Given the description of an element on the screen output the (x, y) to click on. 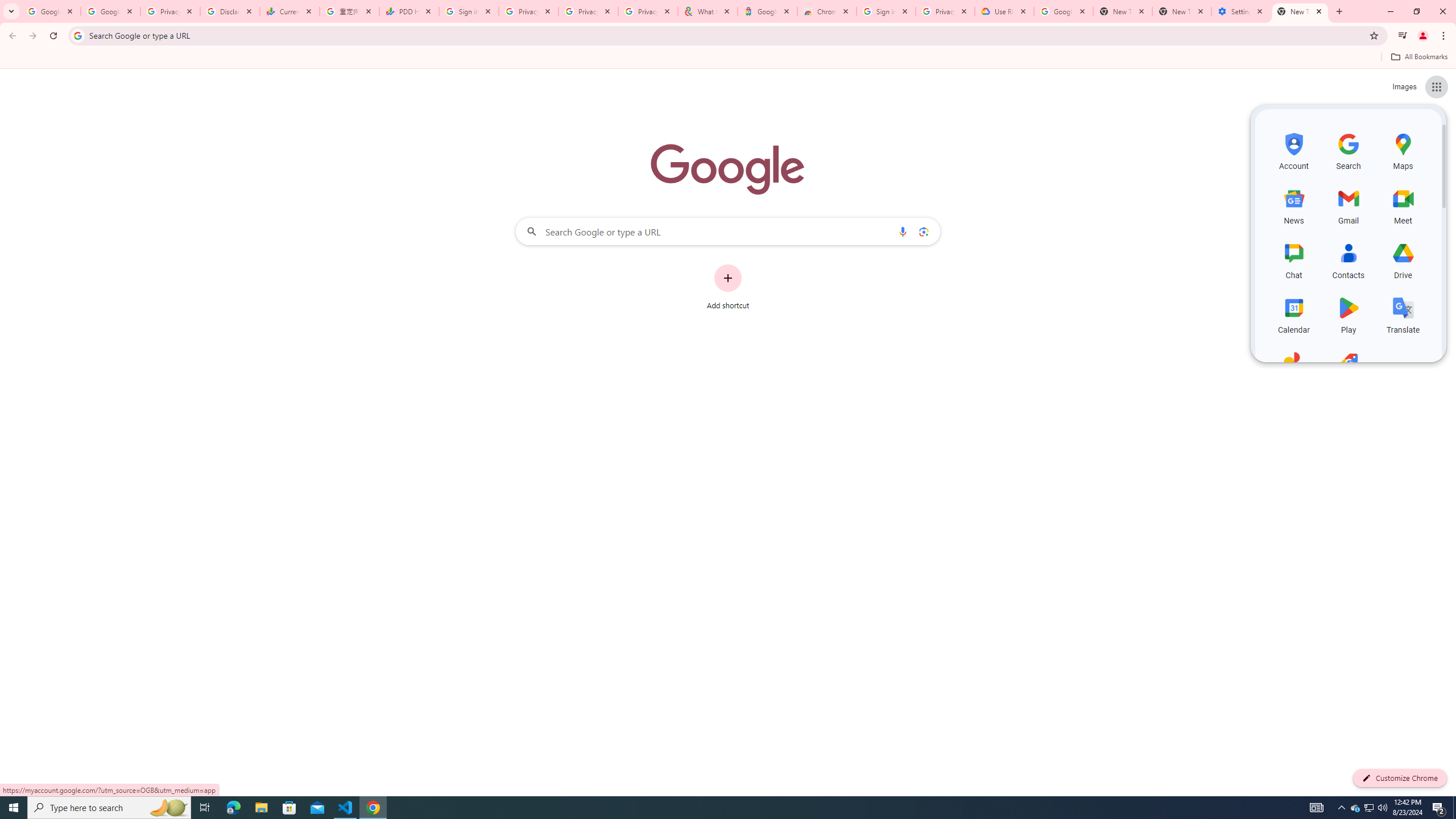
Photos, row 5 of 5 and column 1 of 3 in the first section (1293, 368)
Shopping, row 5 of 5 and column 2 of 3 in the first section (1348, 368)
News, row 2 of 5 and column 1 of 3 in the first section (1293, 204)
New Tab (1300, 11)
Chat, row 3 of 5 and column 1 of 3 in the first section (1293, 259)
Drive, row 3 of 5 and column 3 of 3 in the first section (1402, 259)
Add shortcut (727, 287)
